Given the description of an element on the screen output the (x, y) to click on. 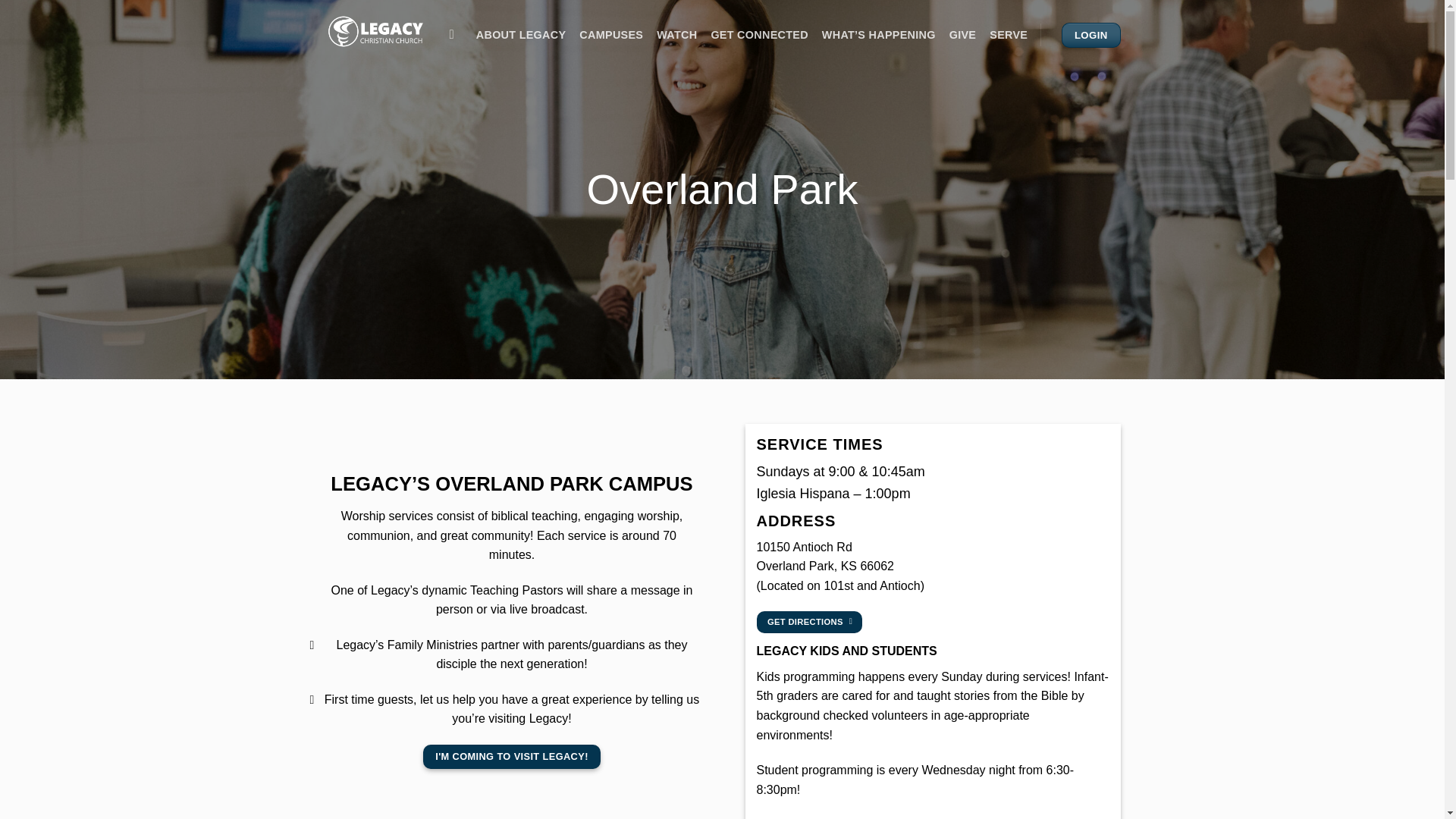
GET DIRECTIONS (809, 621)
LOGIN (1090, 35)
I'M COMING TO VISIT LEGACY! (511, 756)
SERVE (1008, 34)
GET CONNECTED (759, 34)
Legacy Christian Church - Living The Word (375, 31)
ABOUT LEGACY (521, 34)
GIVE (962, 34)
CAMPUSES (611, 34)
WATCH (676, 34)
